Given the description of an element on the screen output the (x, y) to click on. 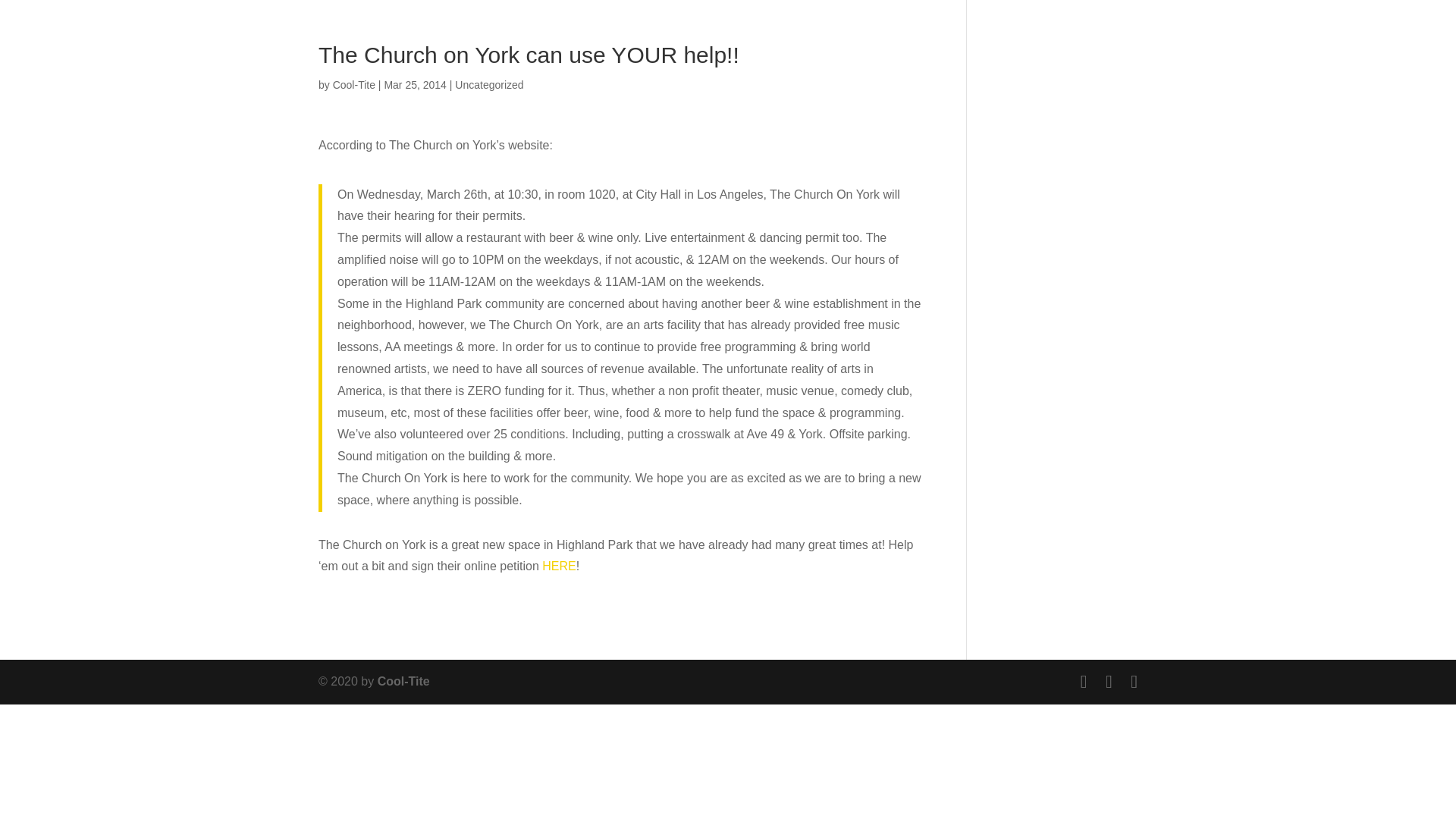
Uncategorized (488, 84)
Posts by Cool-Tite (354, 84)
HERE (558, 565)
Cool-Tite (403, 680)
The Church on York Blvd. (558, 565)
Cool-Tite (354, 84)
